Given the description of an element on the screen output the (x, y) to click on. 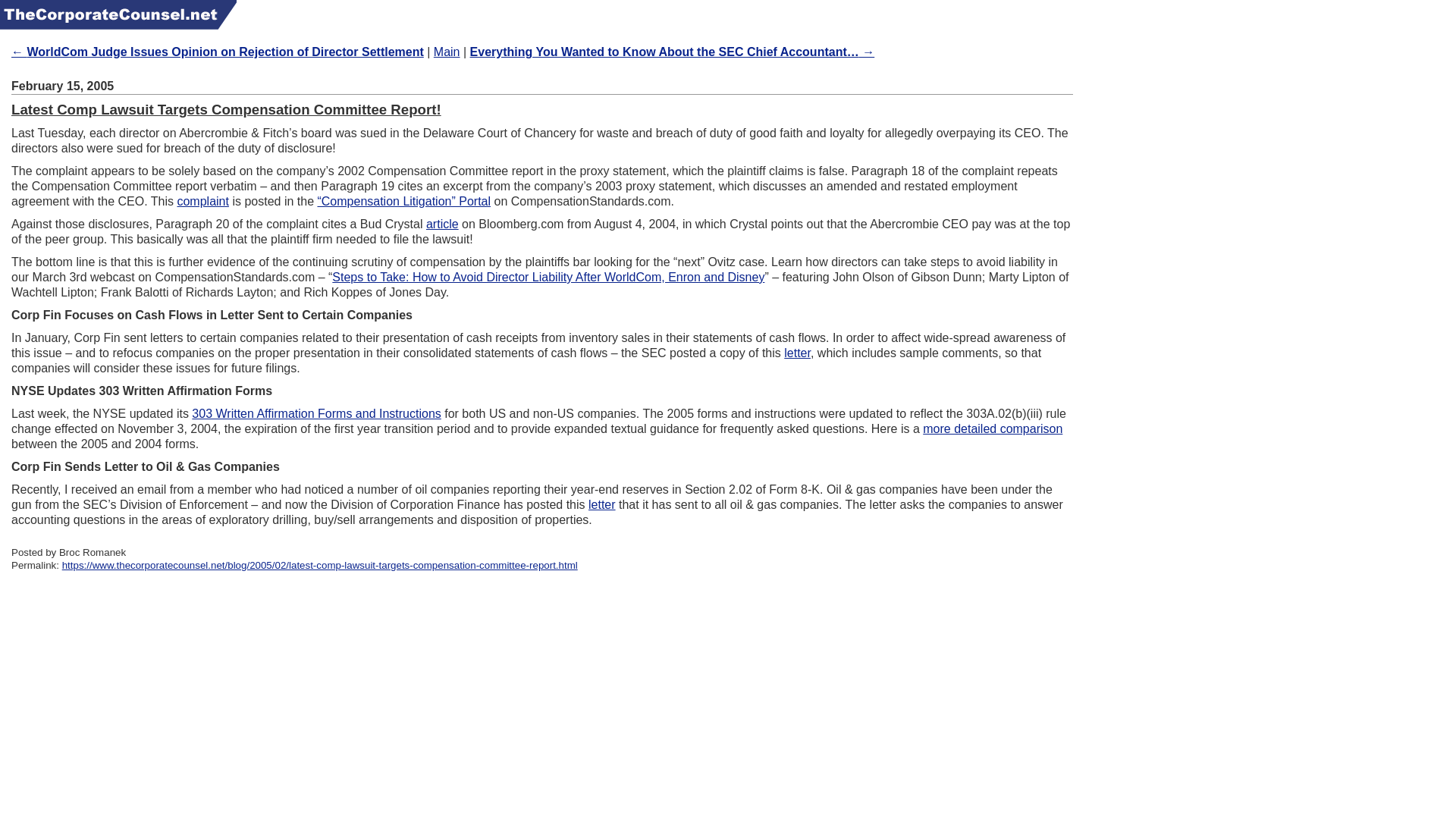
TheCorporateCounsel.net (117, 14)
303 Written Affirmation Forms and Instructions (316, 413)
more detailed comparison (992, 428)
Latest Comp Lawsuit Targets Compensation Committee Report! (226, 109)
letter (797, 352)
letter (601, 504)
complaint (202, 201)
Main (446, 51)
article (442, 223)
